Given the description of an element on the screen output the (x, y) to click on. 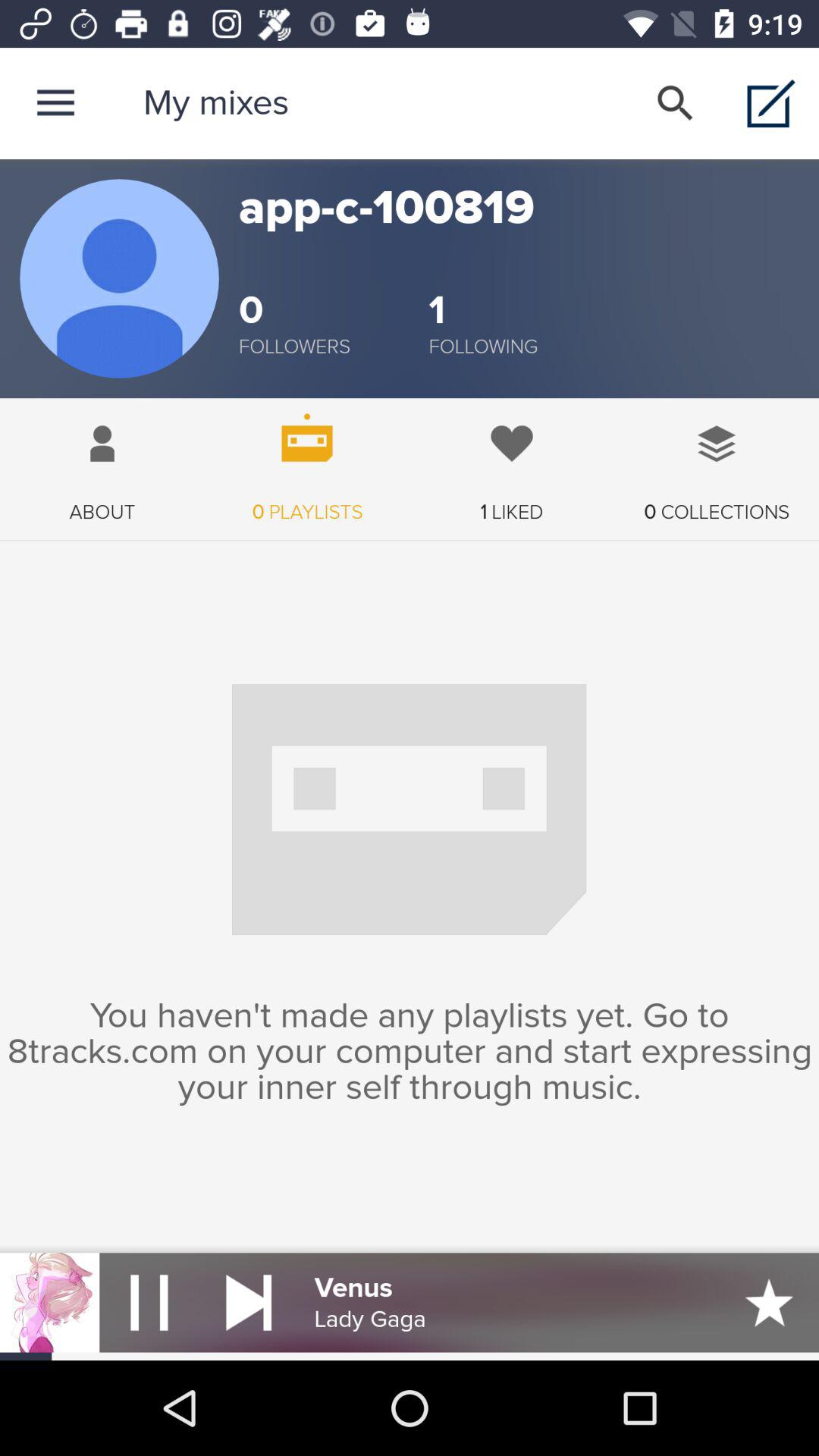
choose the item to the left of 1 (294, 346)
